Given the description of an element on the screen output the (x, y) to click on. 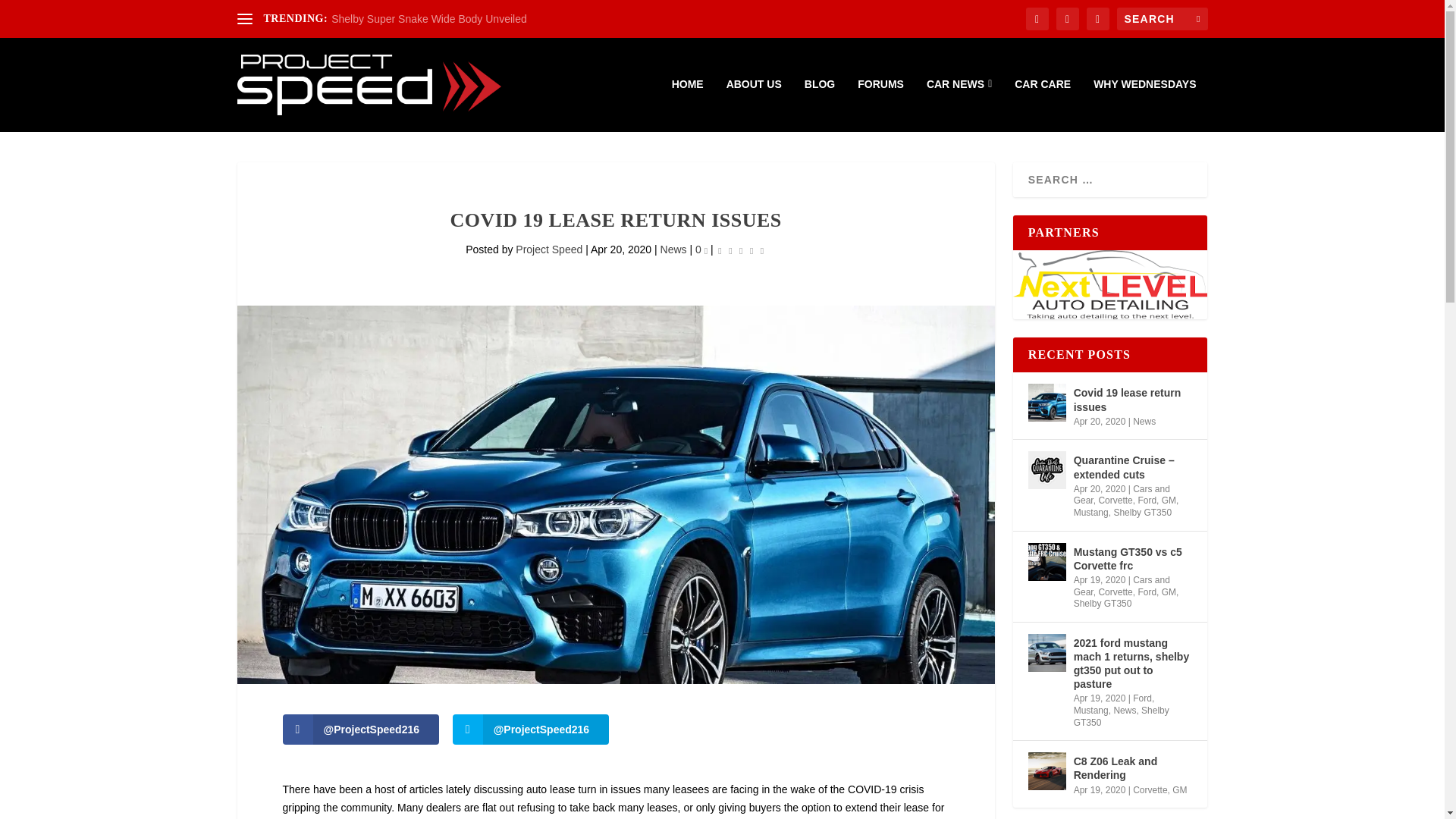
Posts by Project Speed (548, 249)
Rating: 0.00 (740, 250)
WHY WEDNESDAYS (1144, 104)
News (674, 249)
CAR CARE (1042, 104)
Project Speed (548, 249)
ABOUT US (753, 104)
CAR NEWS (958, 104)
0 (701, 249)
Shelby Super Snake Wide Body Unveiled (429, 19)
